Given the description of an element on the screen output the (x, y) to click on. 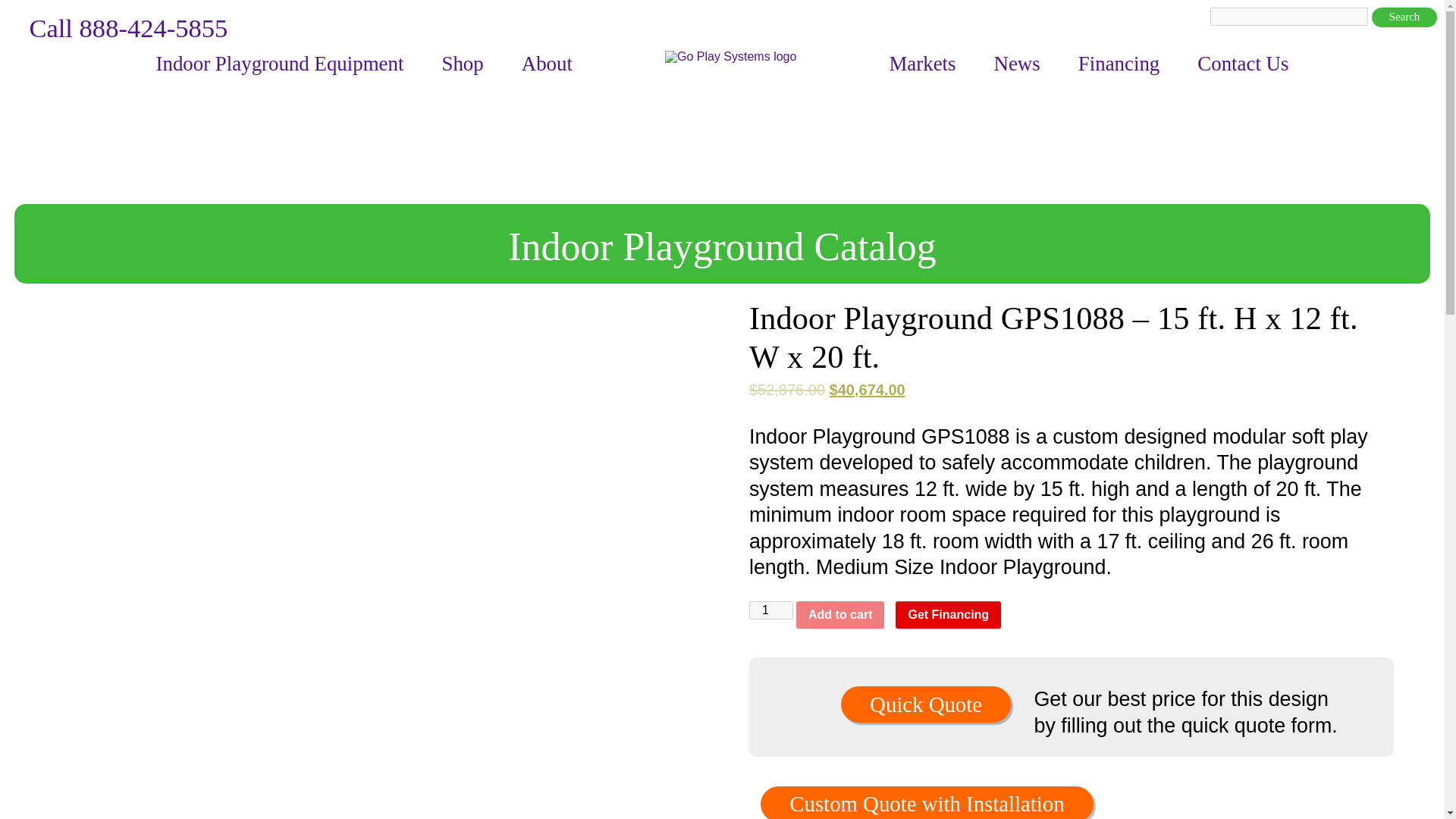
Indoor Playground Equipment (279, 63)
Search (1404, 17)
1 (771, 610)
Search (1404, 17)
